Given the description of an element on the screen output the (x, y) to click on. 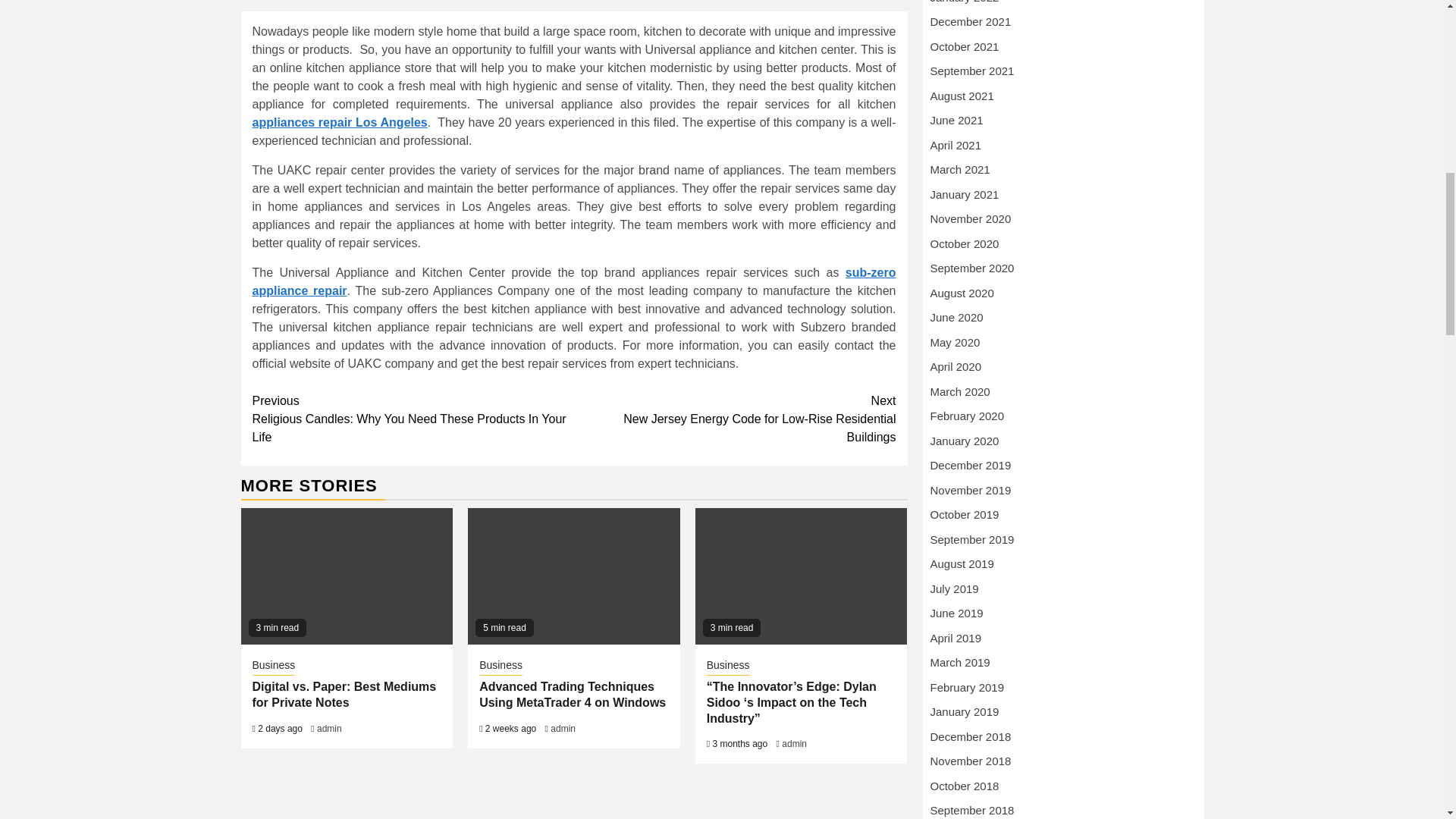
Business (727, 666)
Digital vs. Paper: Best Mediums for Private Notes (343, 694)
Business (500, 666)
admin (793, 743)
Advanced Trading Techniques Using MetaTrader 4 on Windows (572, 694)
appliances repair Los Angeles (338, 122)
Business (273, 666)
admin (329, 728)
sub-zero appliance repair (573, 281)
admin (562, 728)
